Given the description of an element on the screen output the (x, y) to click on. 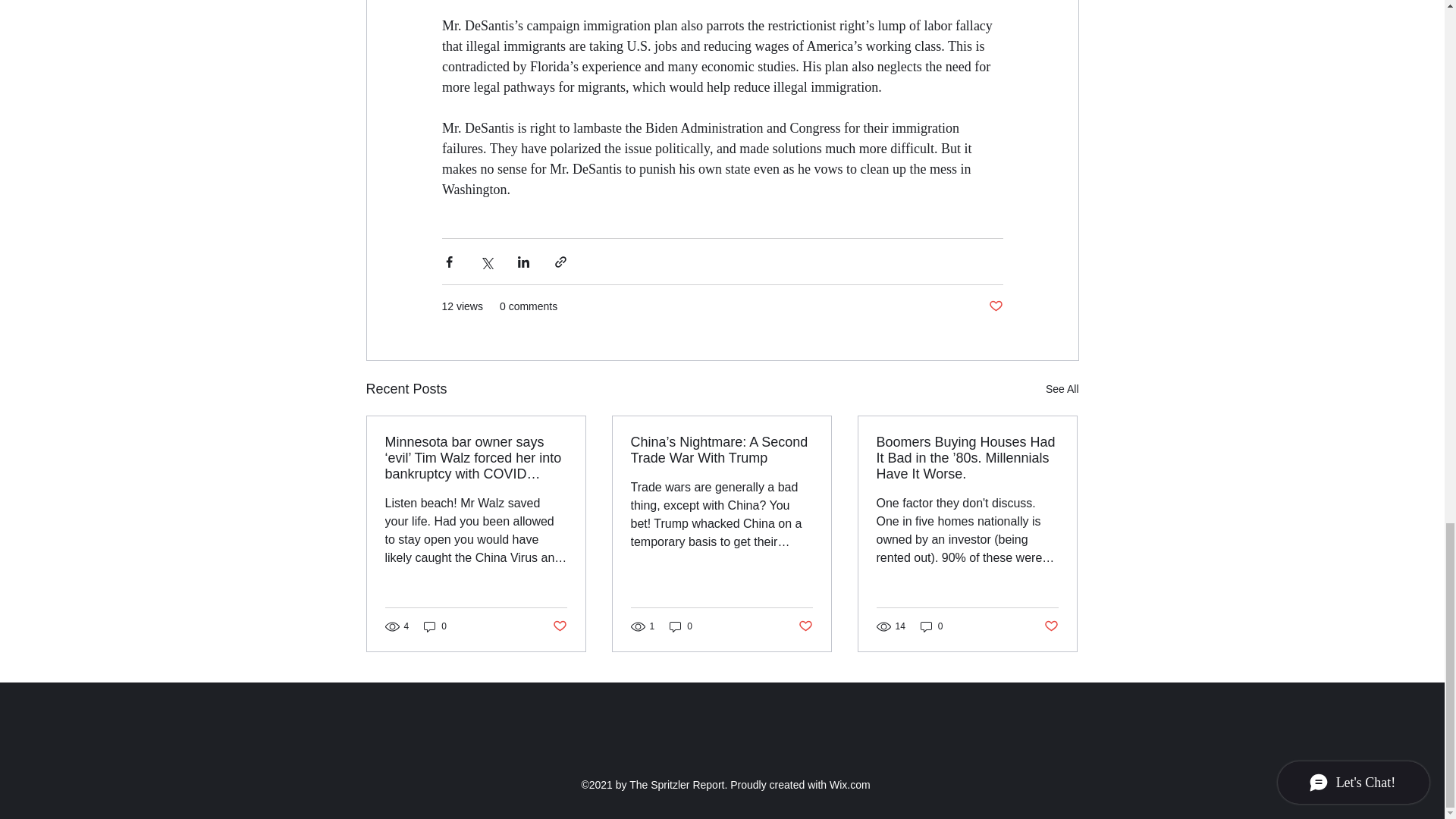
Post not marked as liked (558, 625)
Post not marked as liked (995, 306)
Post not marked as liked (1050, 625)
0 (931, 626)
0 (435, 626)
Post not marked as liked (804, 625)
See All (1061, 389)
0 (681, 626)
